Given the description of an element on the screen output the (x, y) to click on. 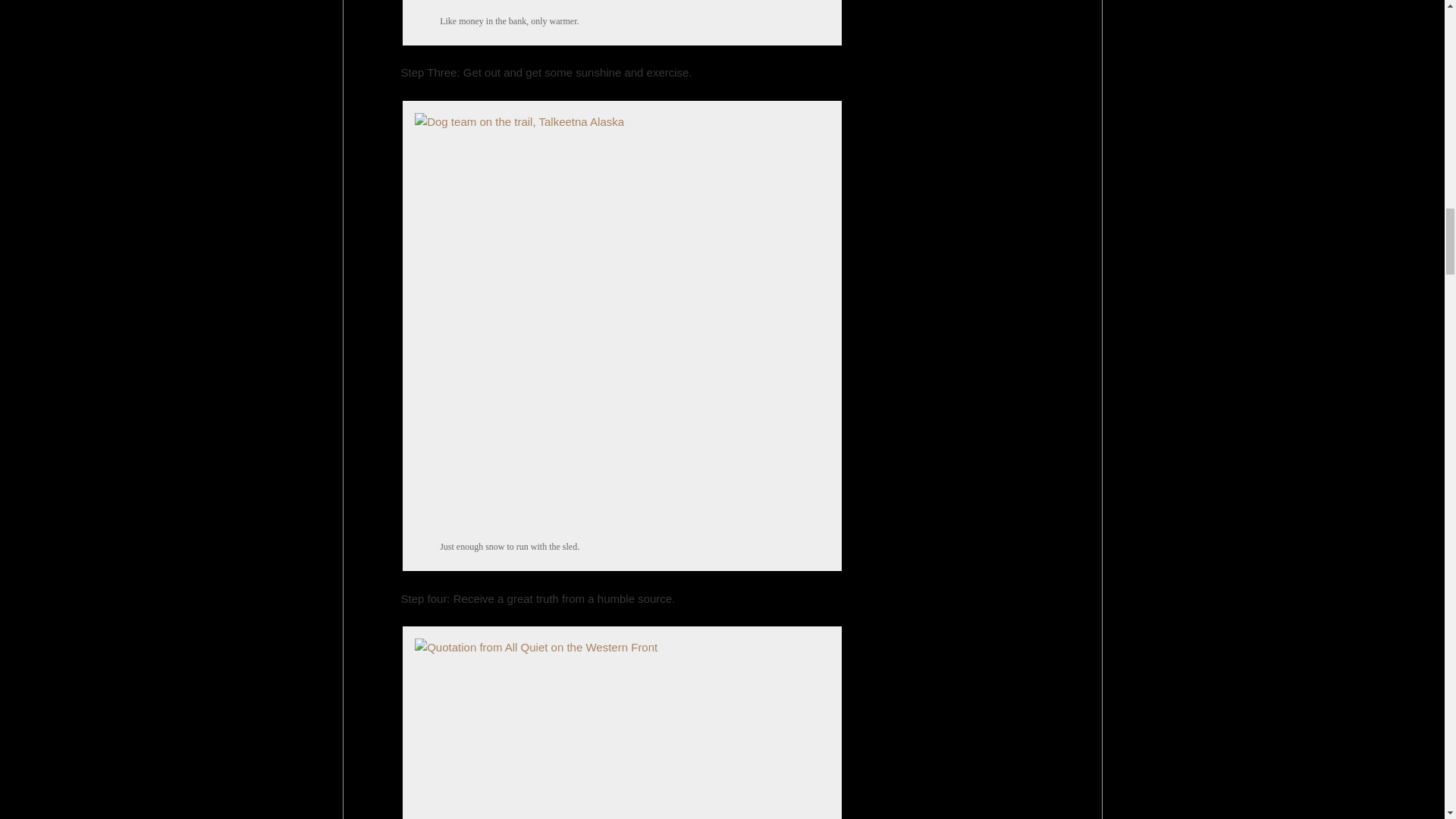
give-em-all (621, 726)
maul (621, 3)
